Given the description of an element on the screen output the (x, y) to click on. 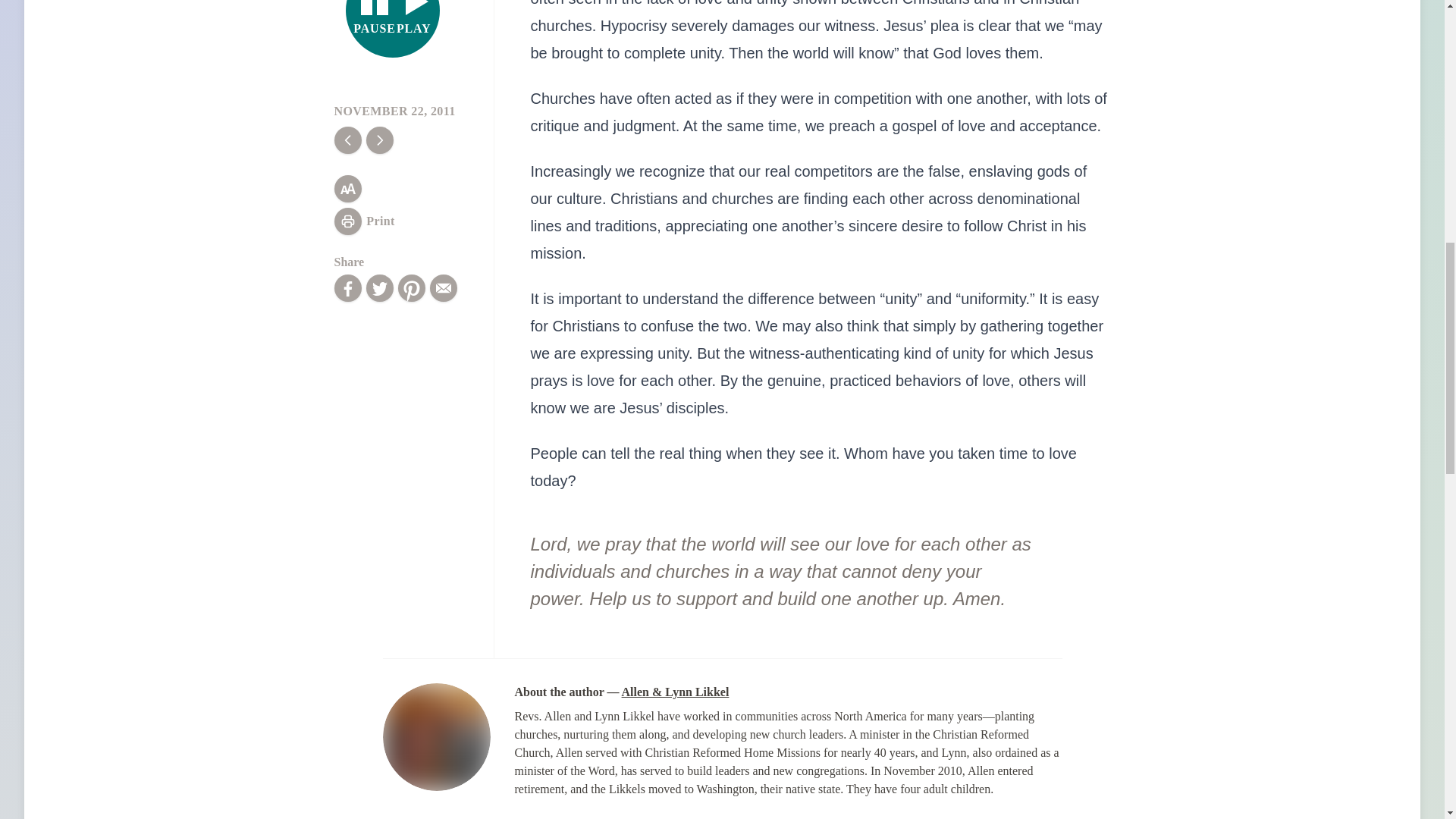
Print (363, 221)
Share by Email (443, 288)
Share on Facebook (347, 288)
Share on Pinterest (411, 288)
Share by Email (443, 288)
Share on Twitter (379, 288)
Share on Twitter (392, 28)
Share on Pinterest (379, 288)
Share on Facebook (411, 288)
